Given the description of an element on the screen output the (x, y) to click on. 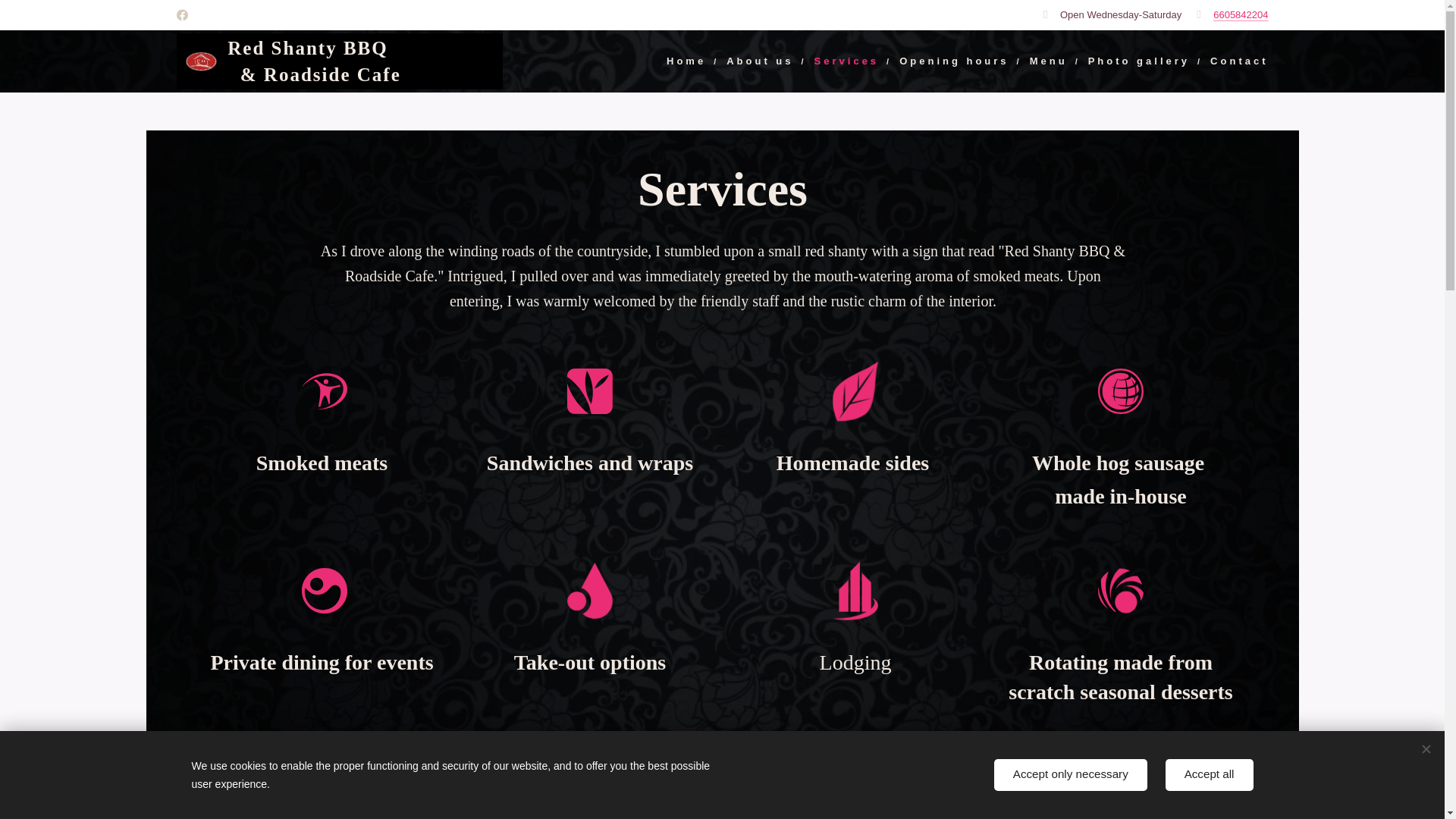
About us (762, 61)
Contact (1235, 61)
Photo gallery (1141, 61)
Opening hours (956, 61)
Menu (1051, 61)
Accept only necessary (1070, 774)
6605842204 (1240, 14)
Services (849, 61)
Accept all (1209, 774)
Home (690, 61)
